Given the description of an element on the screen output the (x, y) to click on. 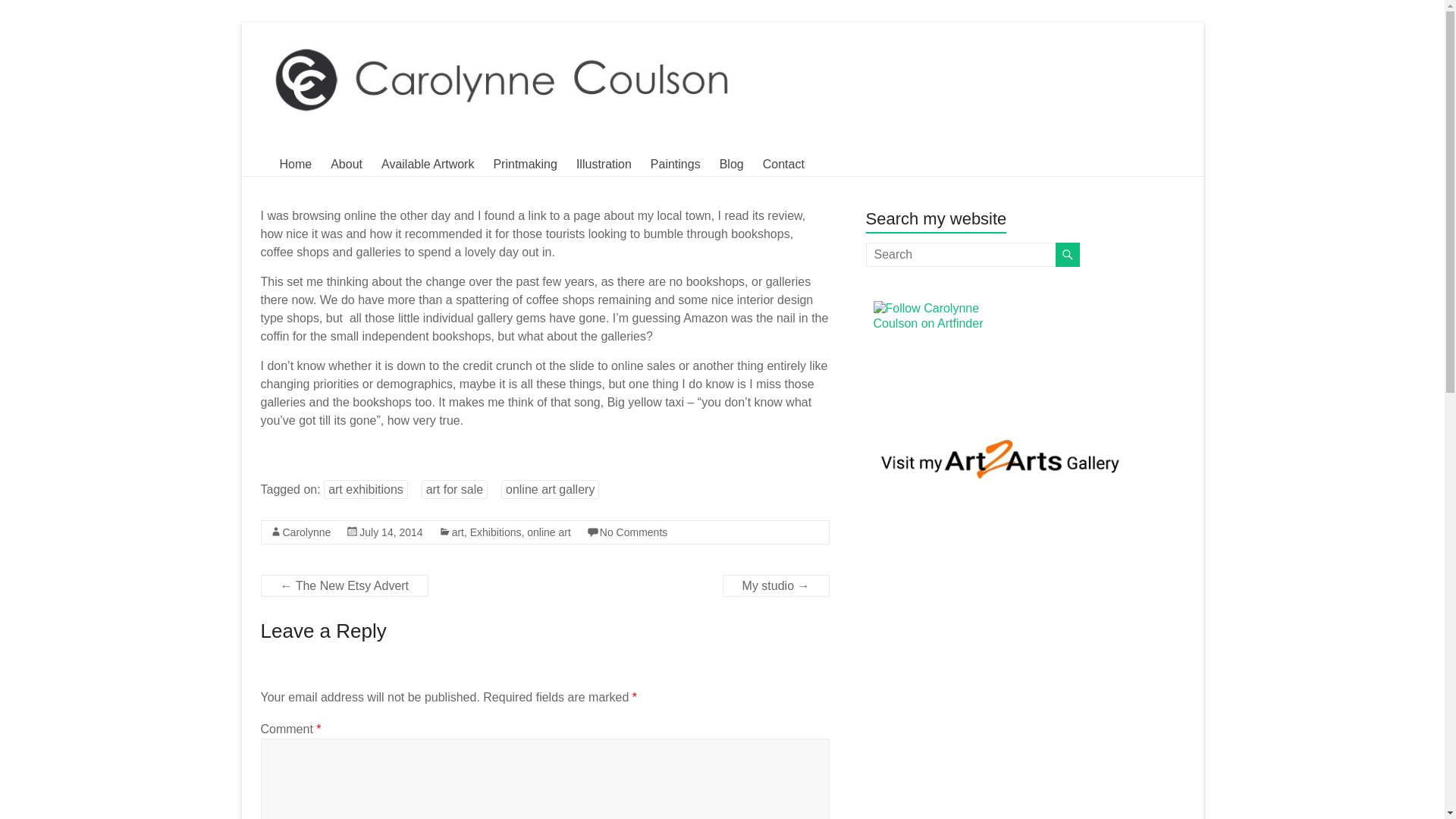
No Comments (632, 532)
art (457, 532)
12:46 pm (390, 532)
Illustration (603, 164)
Paintings (675, 164)
art for sale (454, 488)
Carolynne (306, 532)
Home (295, 164)
Available Artwork (427, 164)
Printmaking (524, 164)
online art (548, 532)
art exhibitions (365, 488)
About (346, 164)
online art gallery (549, 488)
